Given the description of an element on the screen output the (x, y) to click on. 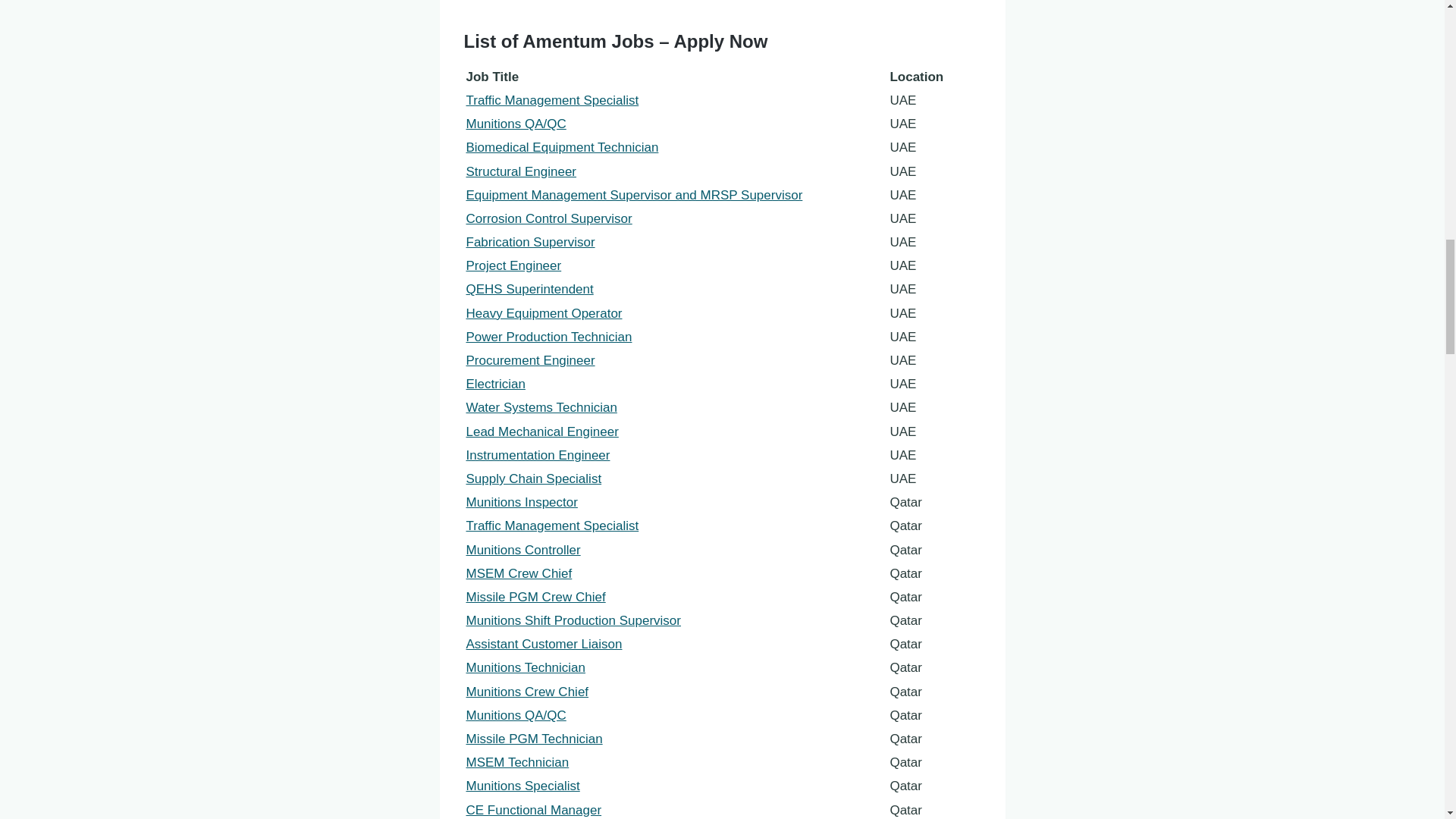
Equipment Management Supervisor and MRSP Supervisor (633, 195)
Heavy Equipment Operator (543, 313)
Biomedical Equipment Technician (561, 147)
Lead Mechanical Engineer (541, 431)
Traffic Management Specialist (552, 100)
QEHS Superintendent (528, 288)
Procurement Engineer (529, 359)
Electrician (494, 383)
Project Engineer (512, 265)
Structural Engineer (520, 170)
